Given the description of an element on the screen output the (x, y) to click on. 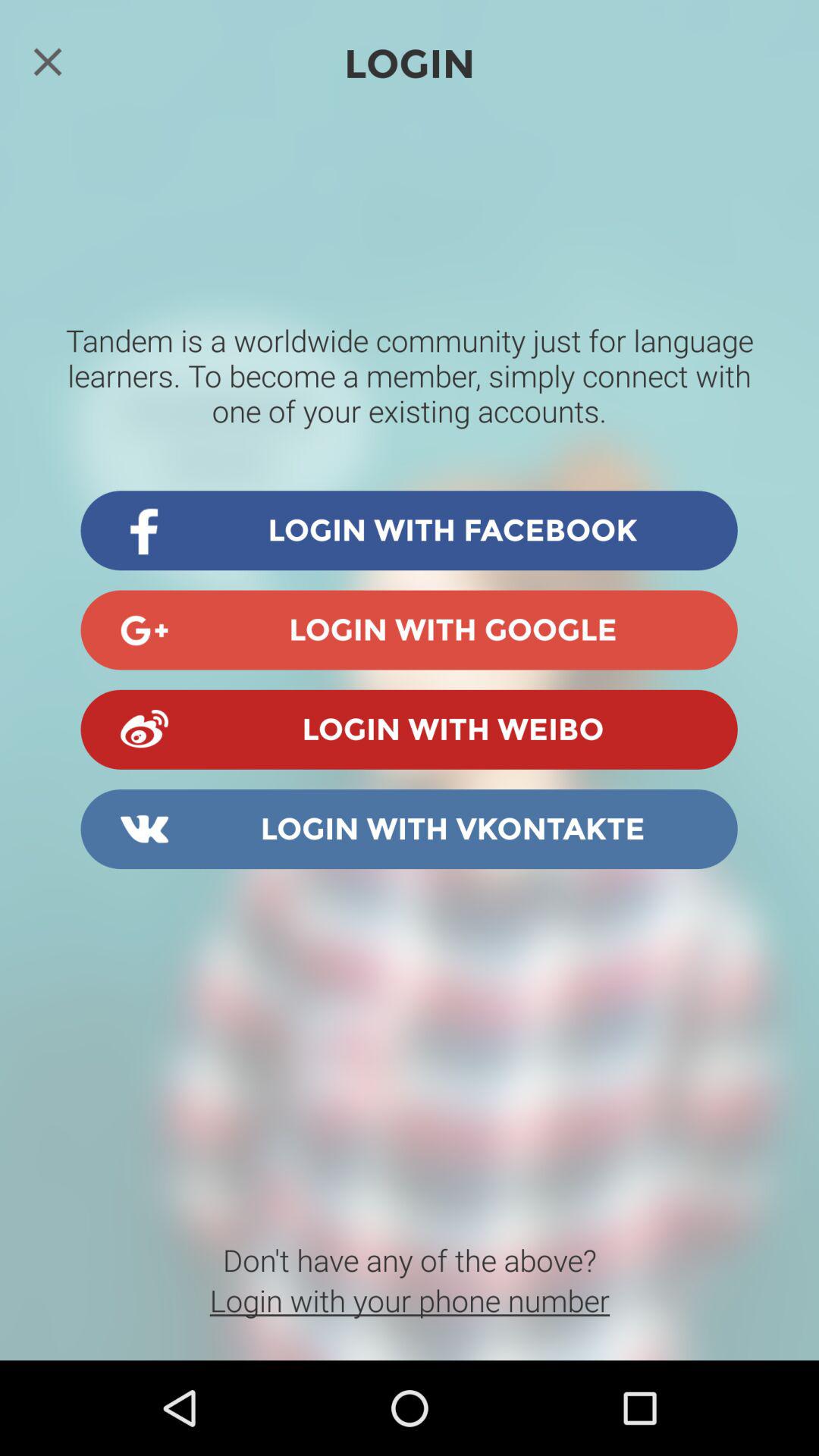
close login (47, 61)
